Given the description of an element on the screen output the (x, y) to click on. 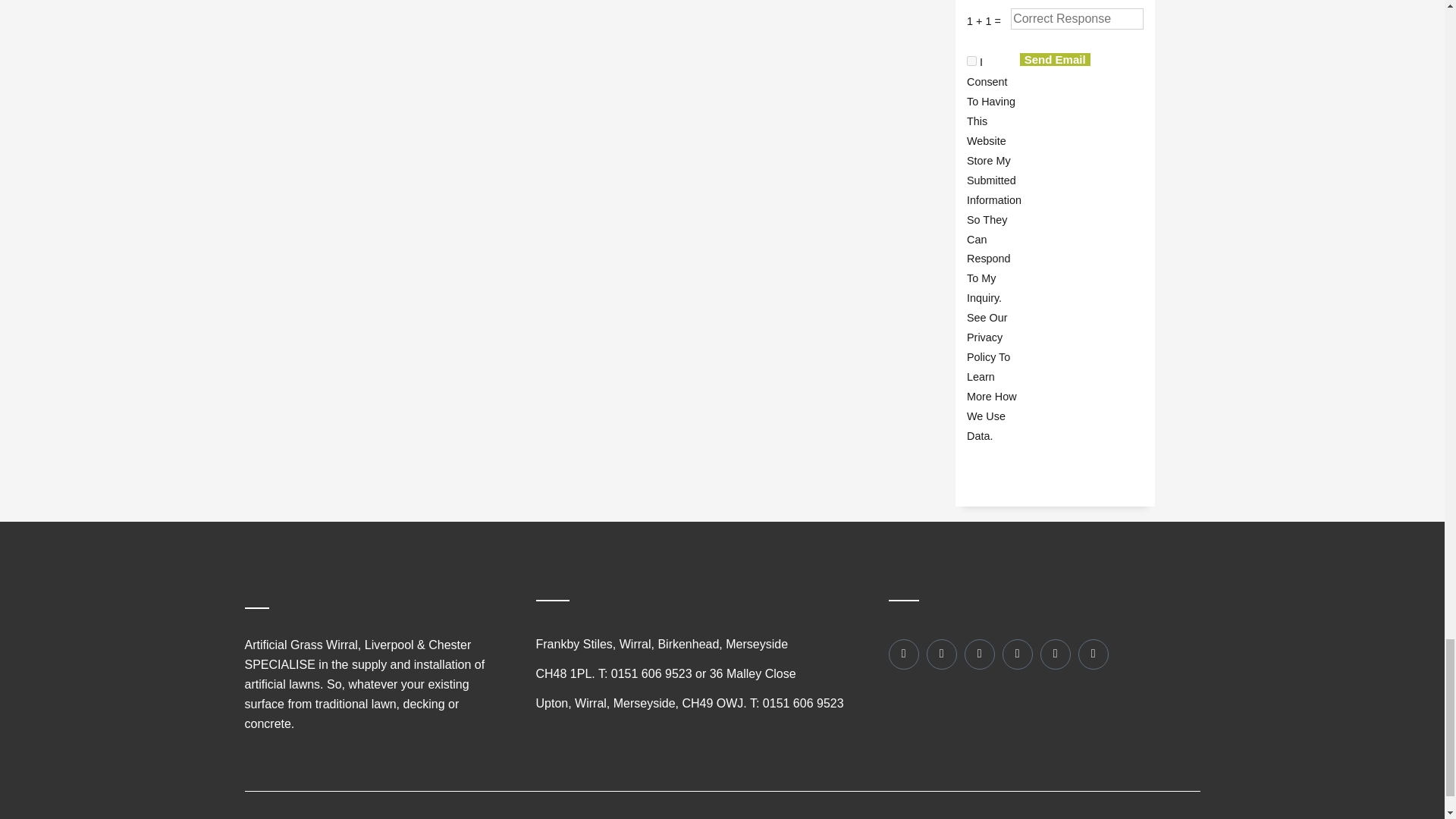
on (971, 61)
Send email (1055, 59)
